Given the description of an element on the screen output the (x, y) to click on. 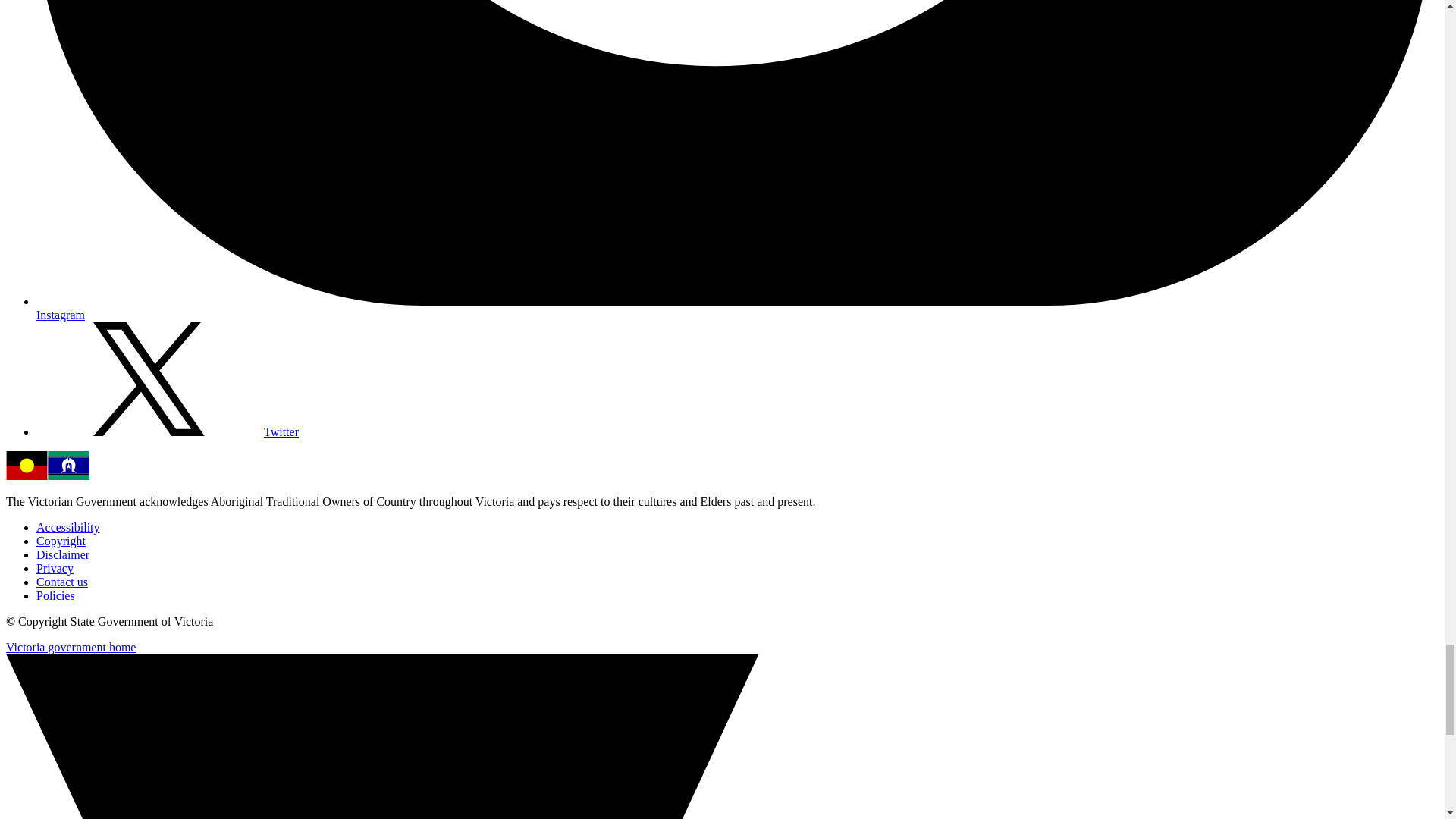
Contact us (61, 581)
Policies (55, 594)
Twitter (167, 431)
Accessibility (68, 526)
Disclaimer (62, 554)
Privacy (55, 567)
Copyright (60, 540)
